Given the description of an element on the screen output the (x, y) to click on. 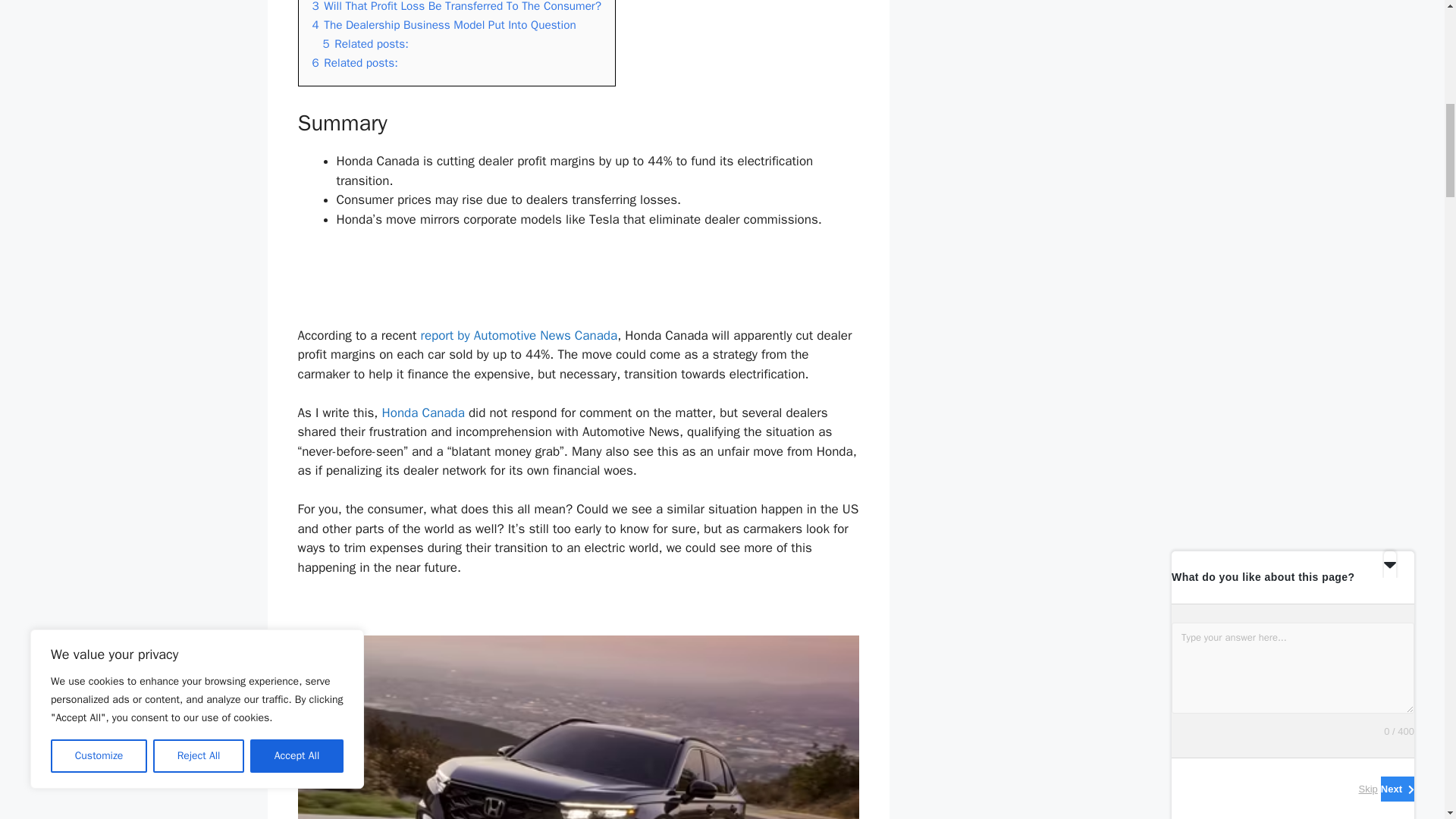
Scroll back to top (1406, 720)
